Given the description of an element on the screen output the (x, y) to click on. 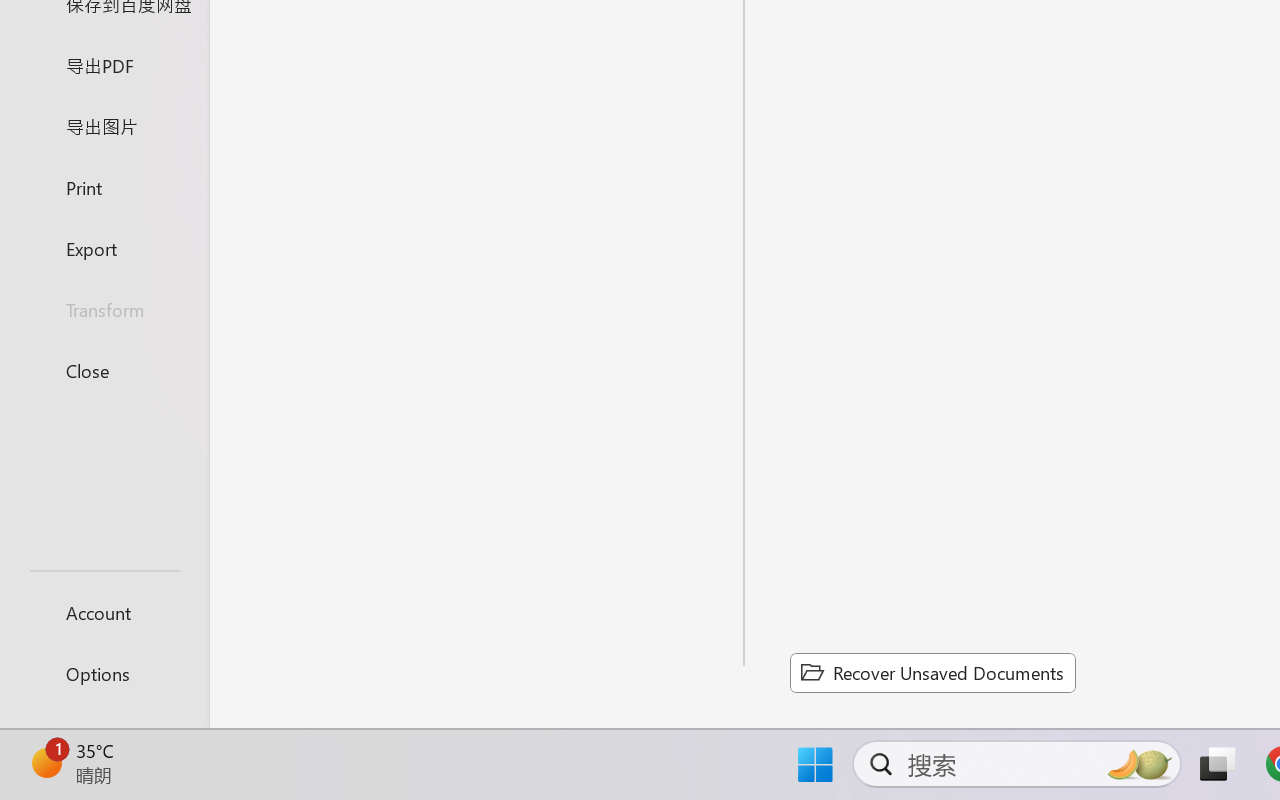
Print (104, 186)
Account (104, 612)
Options (104, 673)
Export (104, 248)
Recover Unsaved Documents (932, 672)
Transform (104, 309)
